Given the description of an element on the screen output the (x, y) to click on. 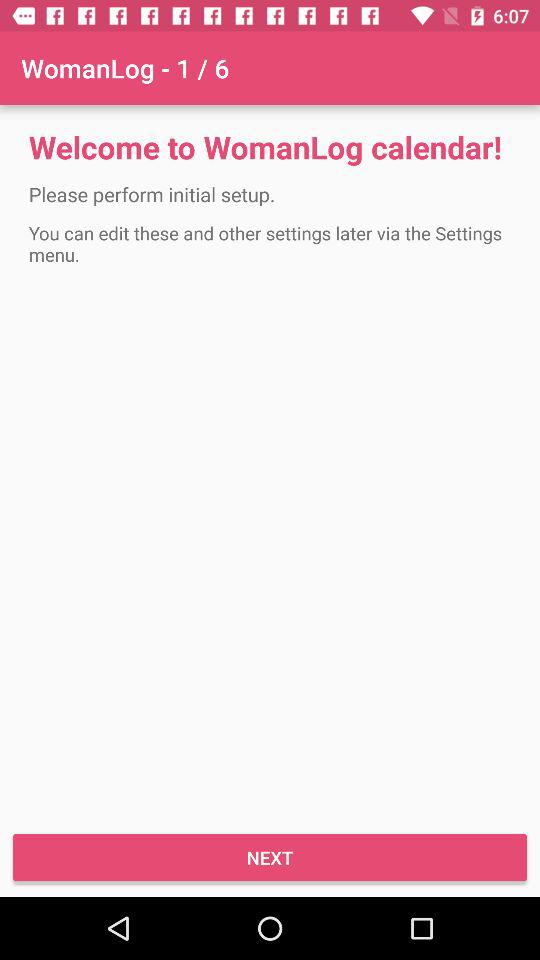
turn on the item below the you can edit item (269, 857)
